Given the description of an element on the screen output the (x, y) to click on. 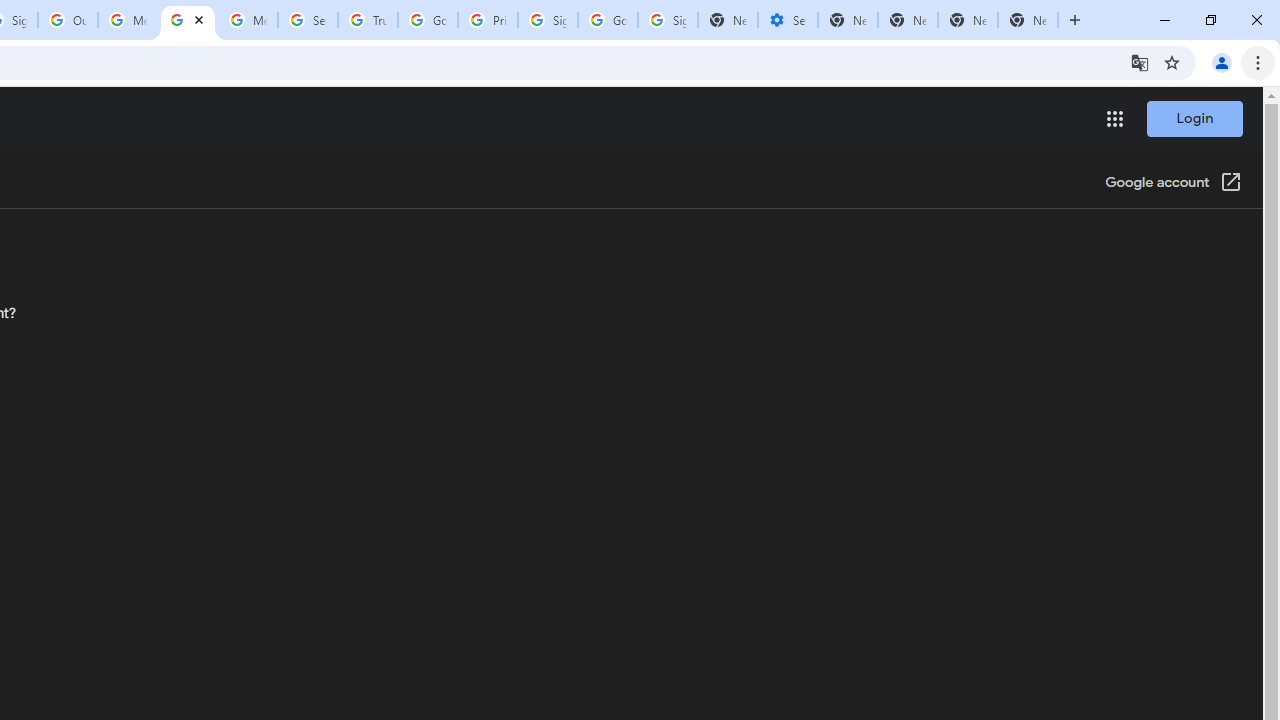
Search our Doodle Library Collection - Google Doodles (307, 20)
Sign in - Google Accounts (548, 20)
New Tab (1028, 20)
Trusted Information and Content - Google Safety Center (367, 20)
Login (1194, 118)
